Given the description of an element on the screen output the (x, y) to click on. 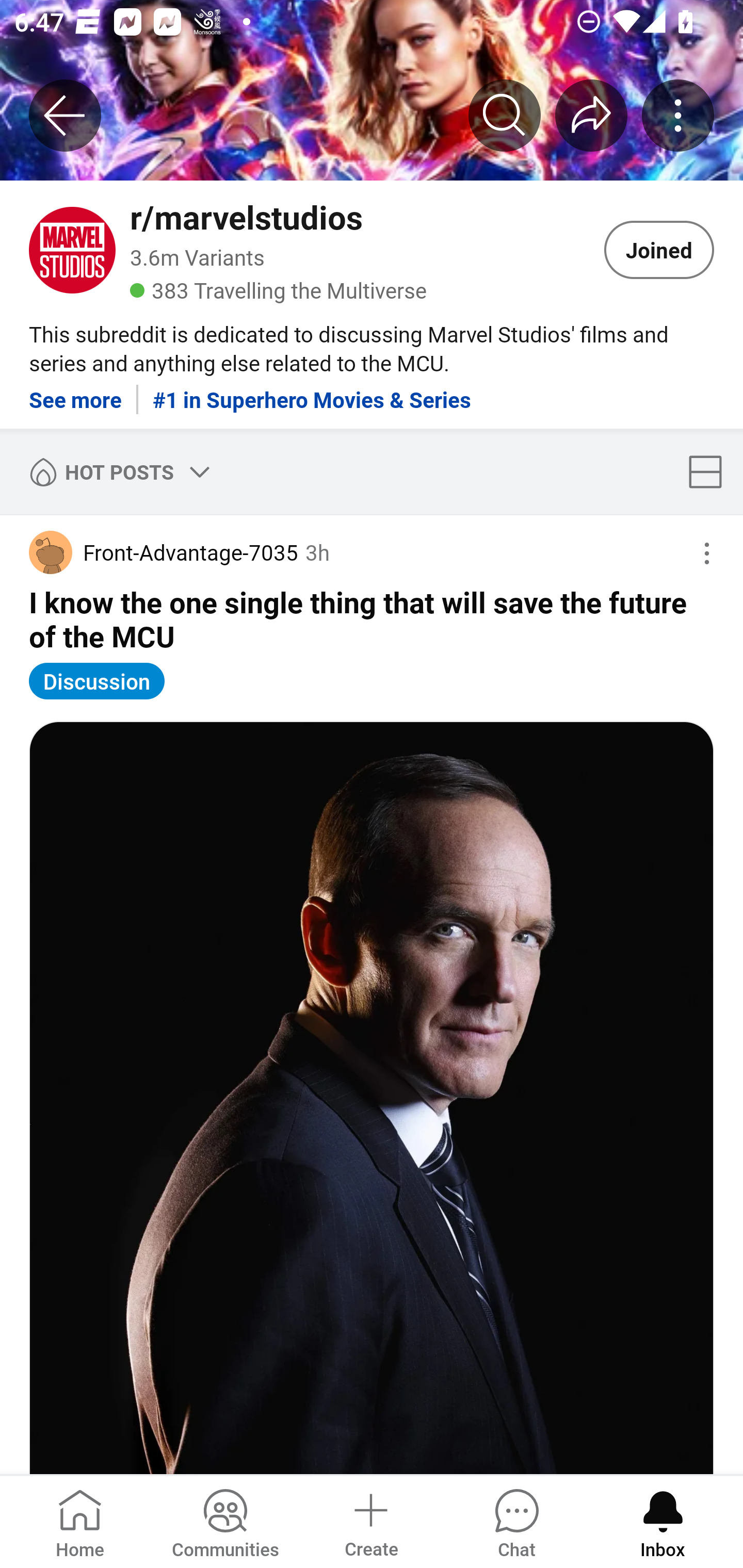
Back (64, 115)
Search r/﻿marvelstudios (504, 115)
Share r/﻿marvelstudios (591, 115)
More community actions (677, 115)
See more (74, 391)
#1 in Superhero Movies & Series (312, 391)
HOT POSTS Sort by Hot posts (115, 471)
Card display (711, 471)
Author Front-Advantage-7035 (162, 552)
Discussion (96, 681)
Image (371, 1097)
Home (80, 1520)
Communities (225, 1520)
Create a post Create (370, 1520)
Chat (516, 1520)
Inbox (662, 1520)
